Given the description of an element on the screen output the (x, y) to click on. 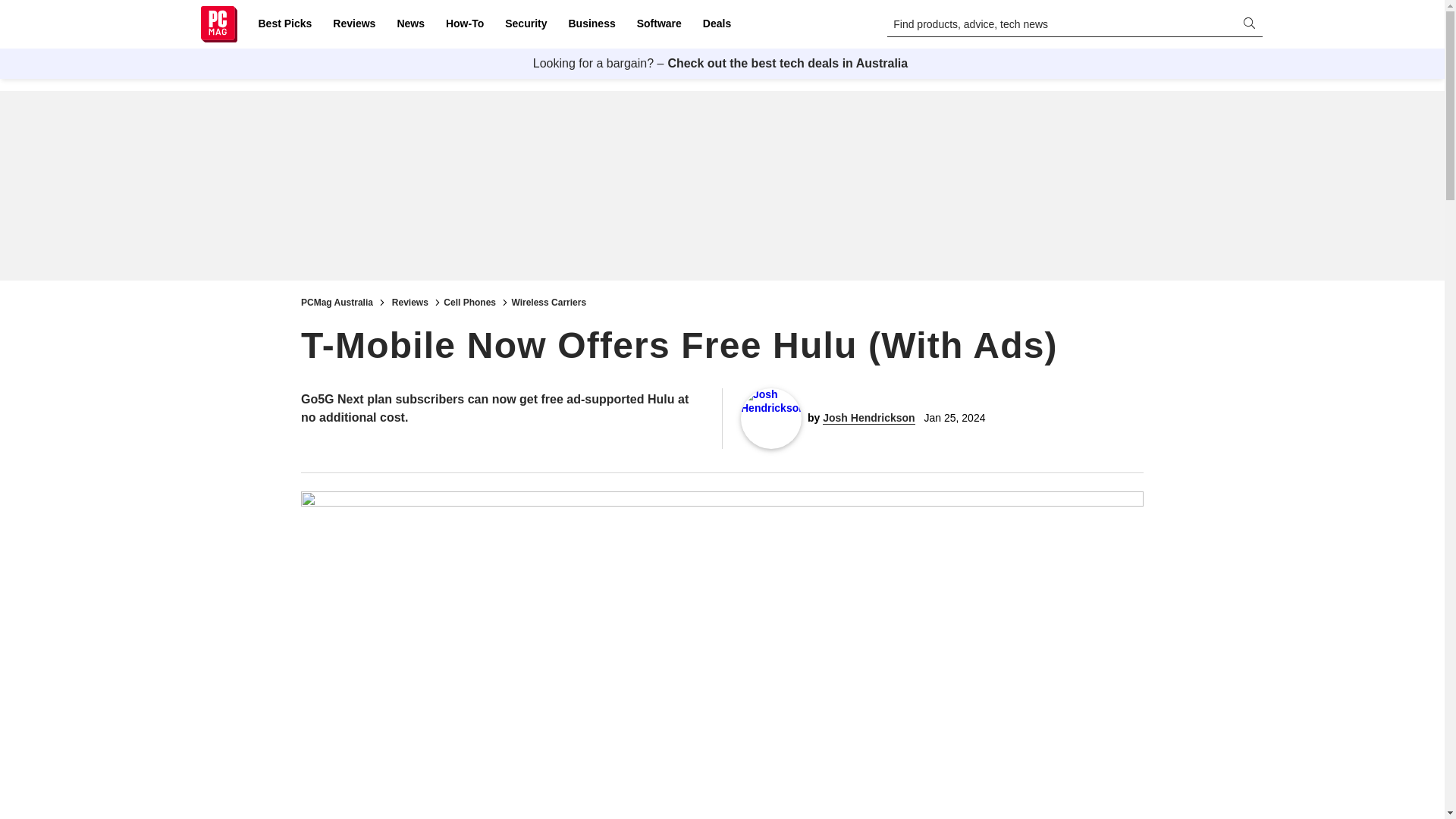
Best Picks (284, 24)
Reviews (353, 24)
How-To (464, 24)
Security (526, 24)
Business (591, 24)
